Given the description of an element on the screen output the (x, y) to click on. 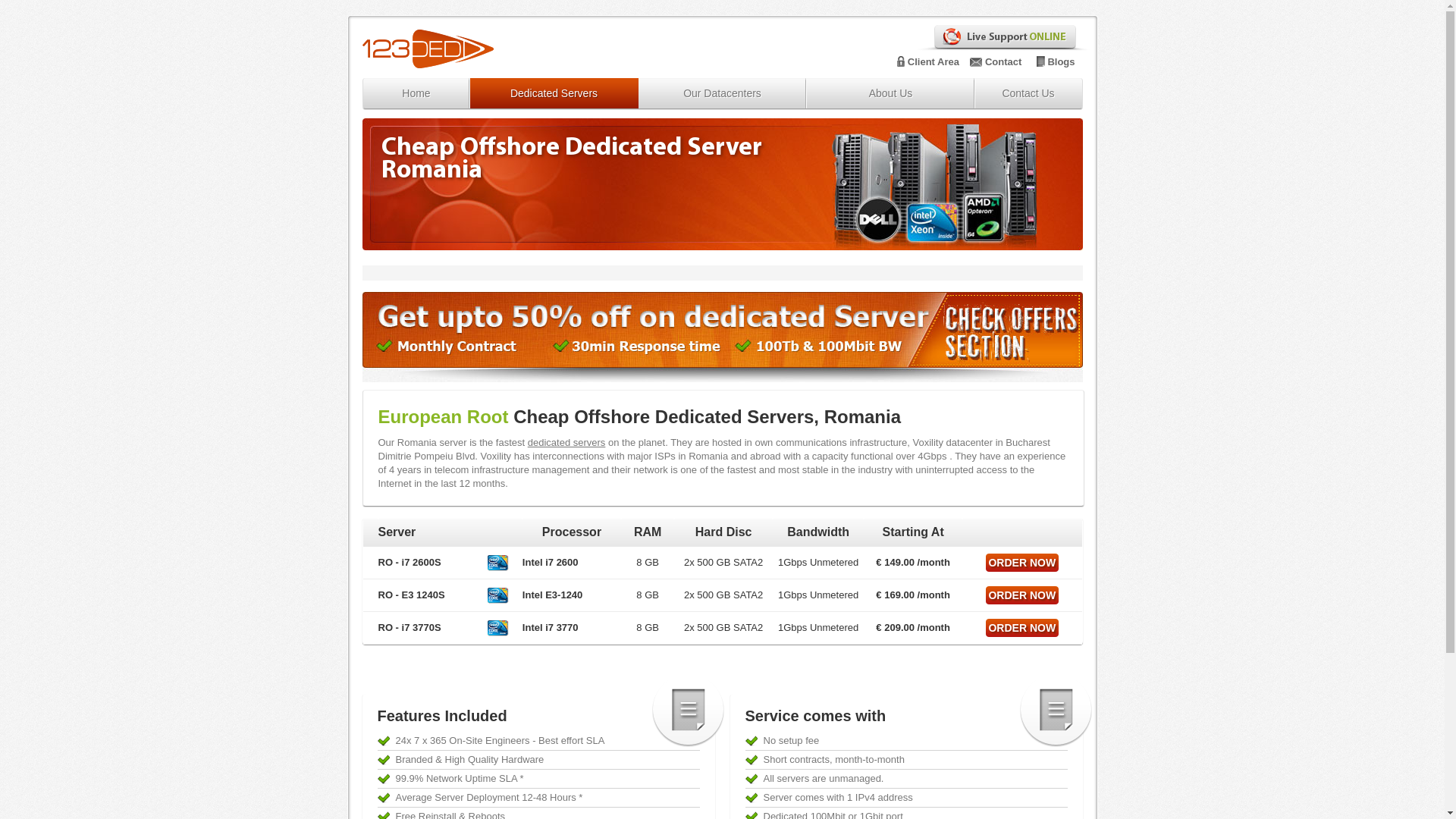
ORDER NOW Element type: text (1021, 627)
Contact Us Element type: text (1028, 93)
Dedicated Servers Element type: text (554, 93)
Home Element type: text (415, 93)
Blogs Element type: text (1060, 61)
Cheap Offshore Dedicated Servers, Romania Element type: text (706, 416)
Our Datacenters Element type: text (722, 93)
About Us Element type: text (890, 93)
Contact Element type: text (1003, 61)
ORDER NOW Element type: text (1021, 595)
Client Area Element type: text (933, 61)
ORDER NOW Element type: text (1021, 562)
